Given the description of an element on the screen output the (x, y) to click on. 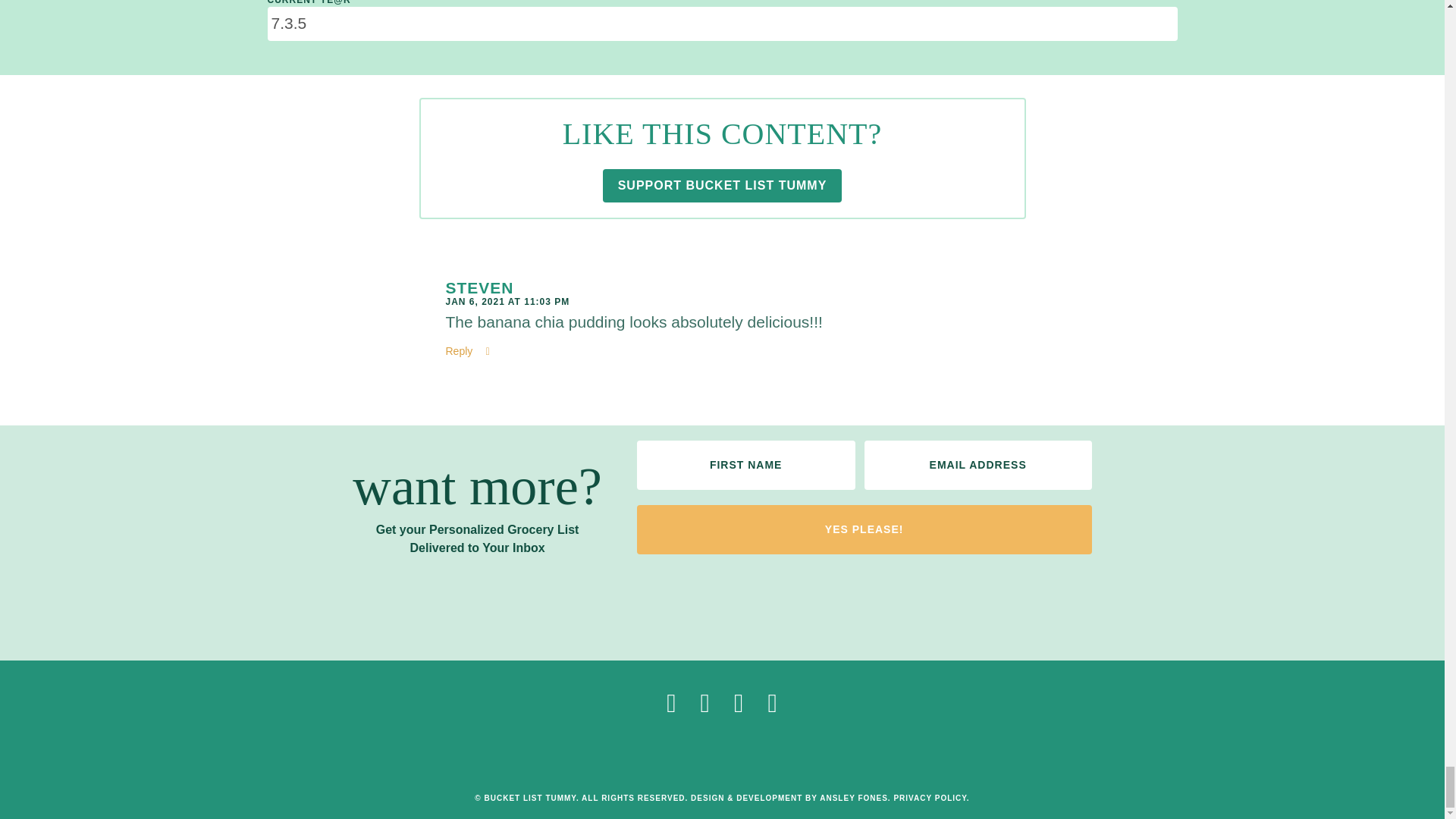
7.3.5 (721, 23)
